Given the description of an element on the screen output the (x, y) to click on. 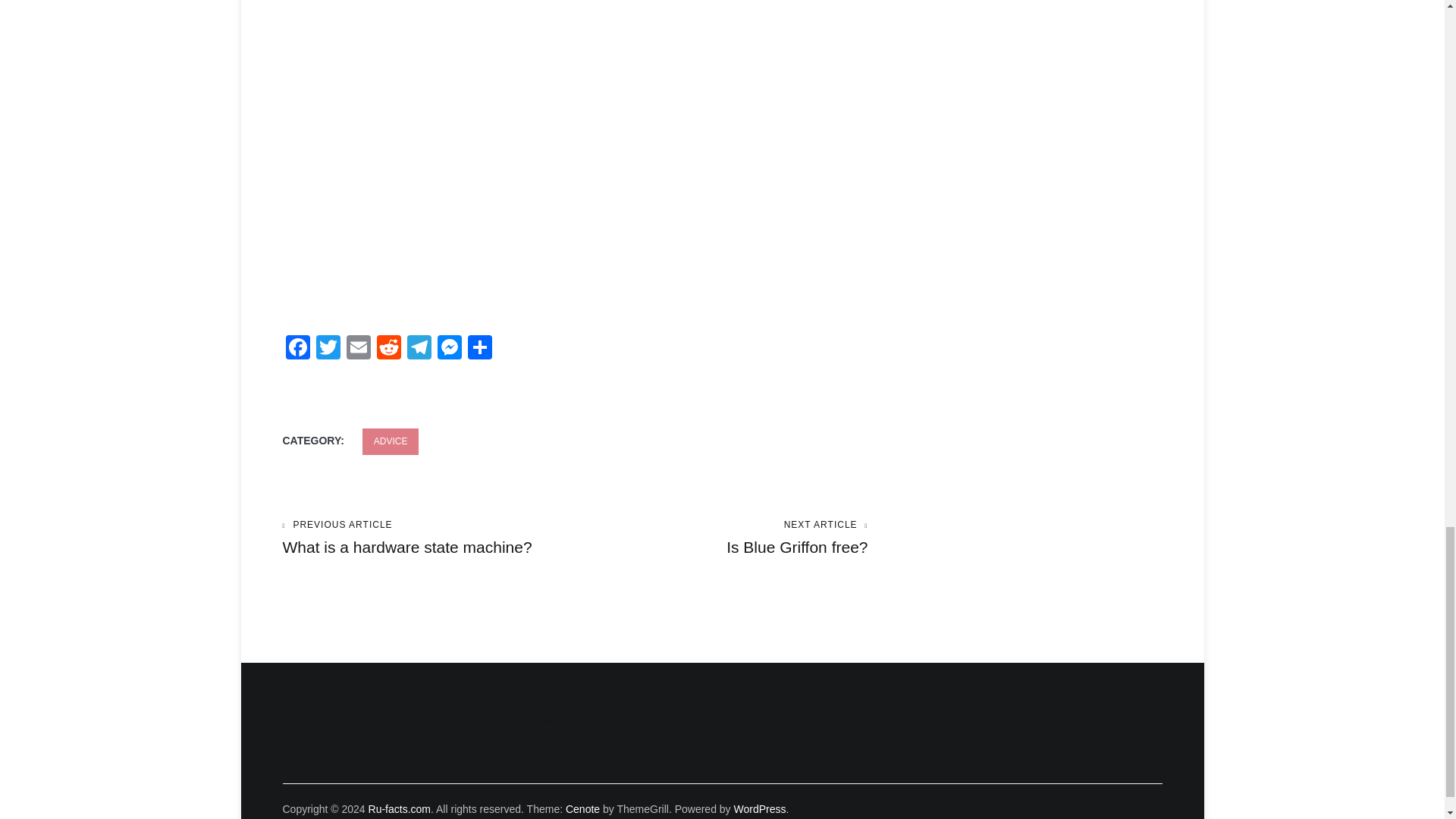
Telegram (418, 348)
Email (428, 537)
Brazoria County Jail- arrested (357, 348)
Messenger (390, 441)
Reddit (448, 348)
Email (387, 348)
Reddit (357, 348)
Twitter (387, 348)
Ru-facts.com (327, 348)
Facebook (721, 537)
Telegram (399, 808)
Facebook (297, 348)
